Given the description of an element on the screen output the (x, y) to click on. 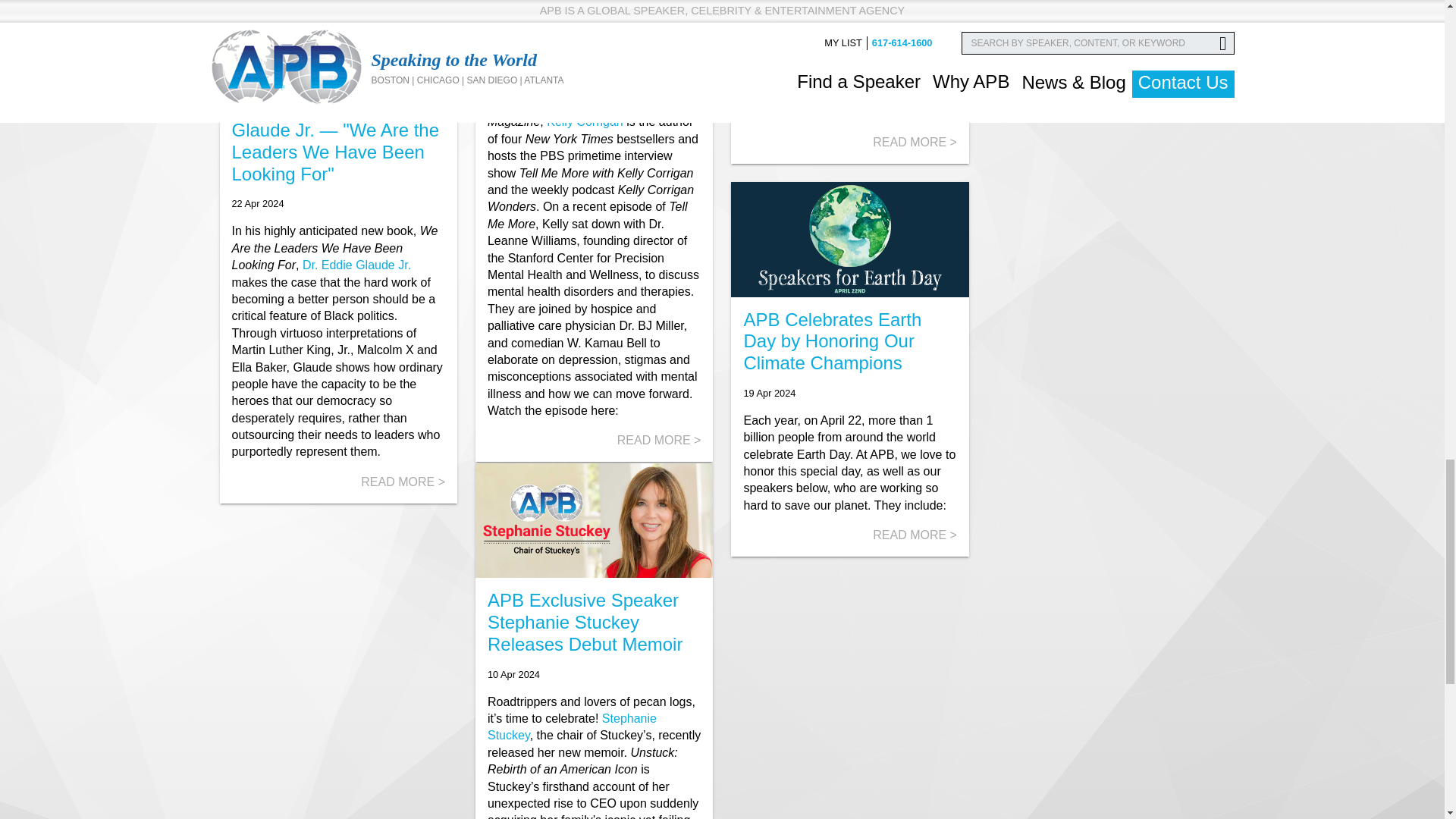
Dr. Eddie Glaude, Jr. (356, 264)
Kelly Corrigan (585, 121)
Stephanie Stuckey (571, 726)
